Given the description of an element on the screen output the (x, y) to click on. 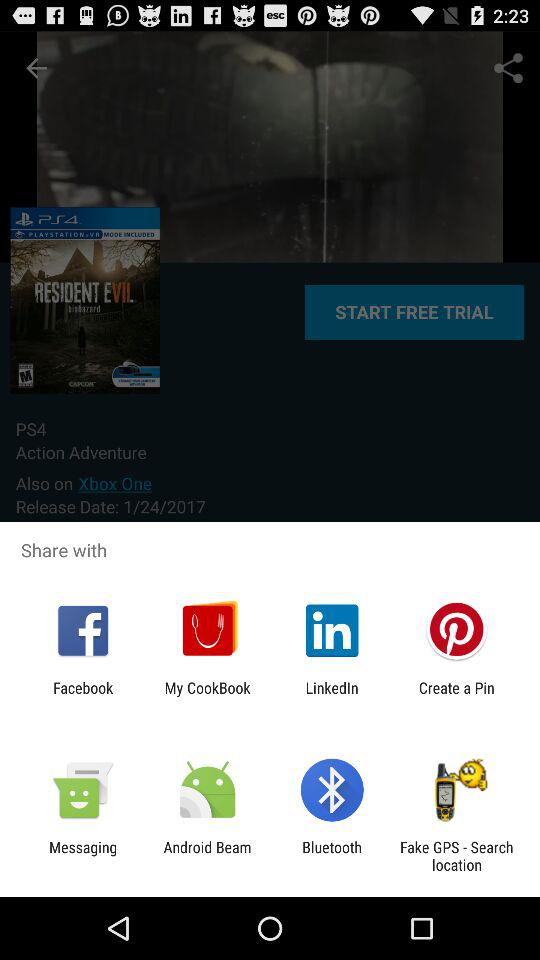
click icon next to messaging (207, 856)
